Given the description of an element on the screen output the (x, y) to click on. 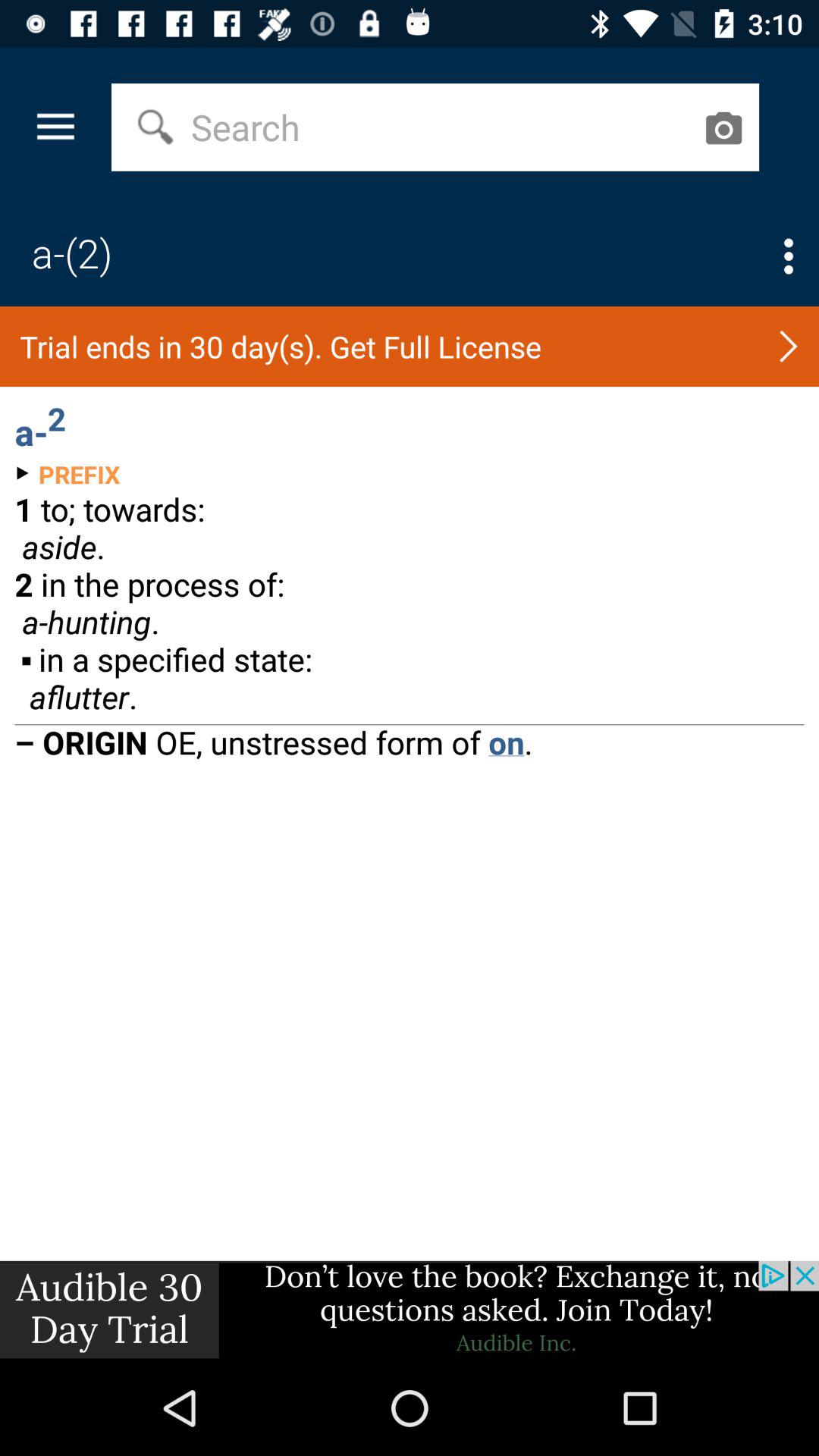
picture scan (723, 127)
